Given the description of an element on the screen output the (x, y) to click on. 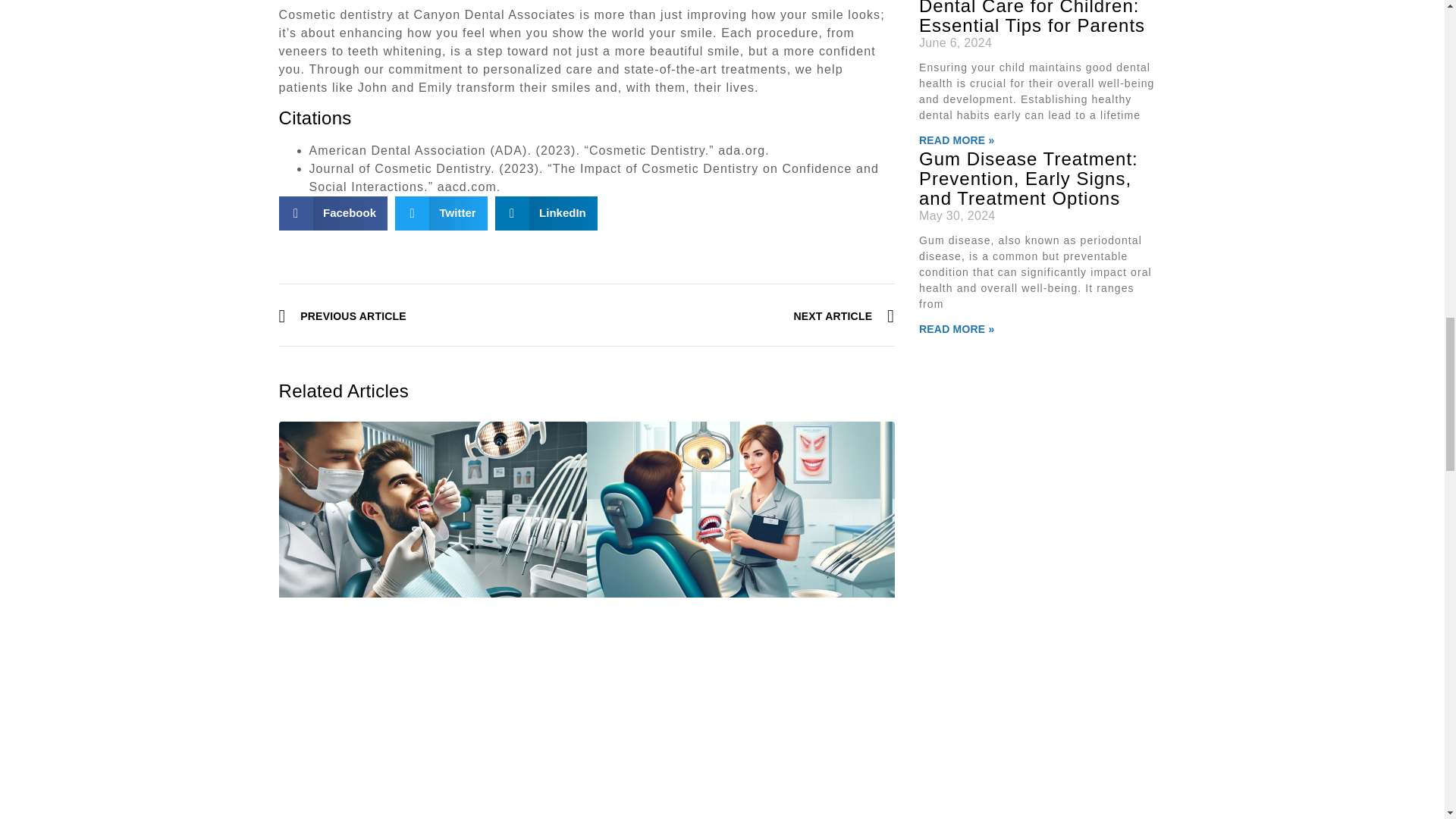
Dental Care for Children: Essential Tips for Parents (1031, 18)
NEXT ARTICLE (739, 316)
PREVIOUS ARTICLE (432, 316)
